Given the description of an element on the screen output the (x, y) to click on. 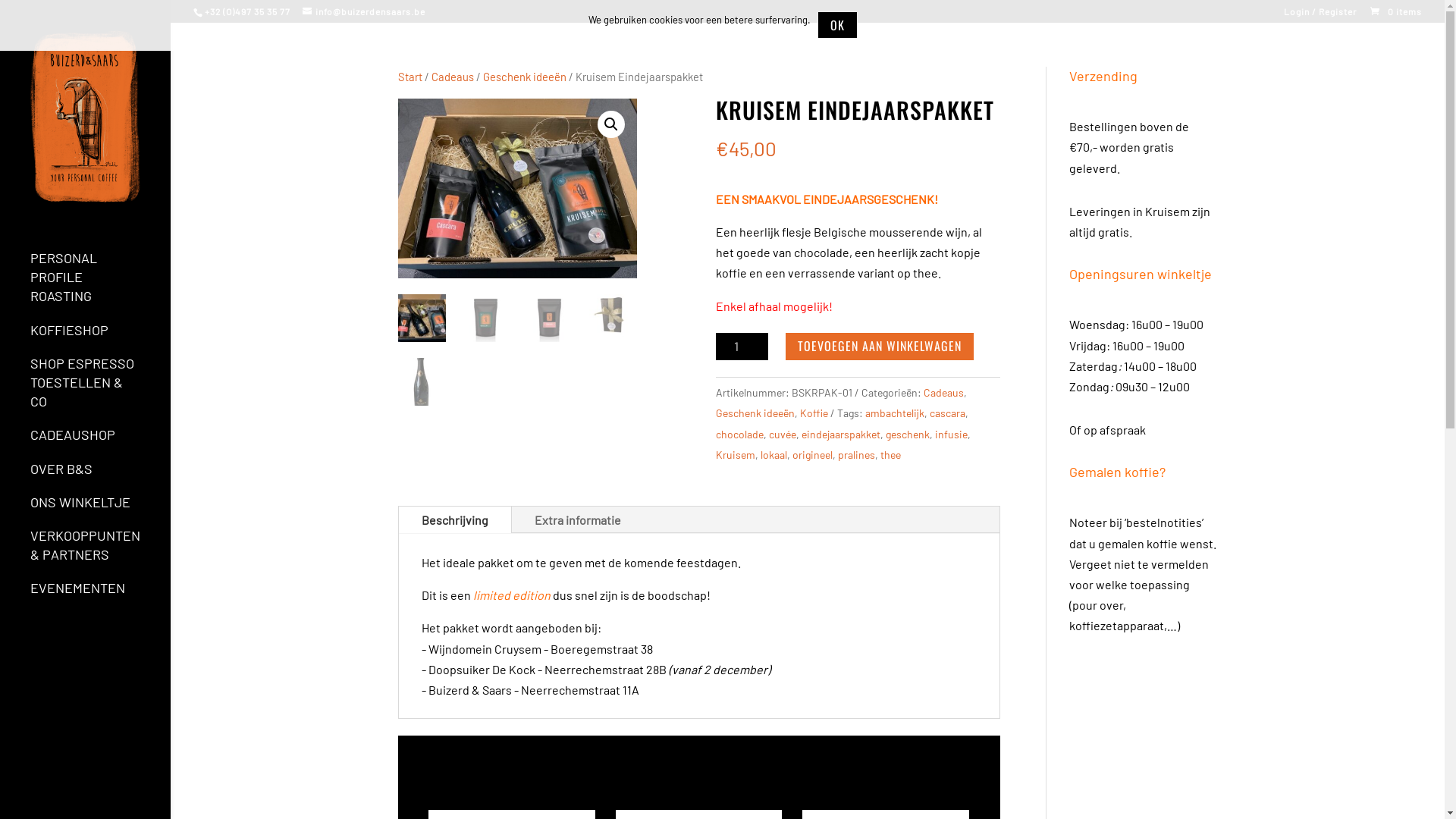
EVENEMENTEN Element type: text (100, 594)
OK Element type: text (836, 24)
Login / Register Element type: text (1319, 11)
pralines Element type: text (856, 454)
Cadeaus Element type: text (943, 391)
OVER B&S Element type: text (100, 475)
Beschrijving Element type: text (454, 519)
Start Element type: text (410, 76)
Koffie Element type: text (814, 412)
lokaal Element type: text (773, 454)
chocolade Element type: text (739, 433)
VERKOOPPUNTEN & PARTNERS Element type: text (100, 552)
thee Element type: text (890, 454)
cascara Element type: text (947, 412)
CADEAUSHOP Element type: text (100, 441)
origineel Element type: text (812, 454)
info@buizerdensaars.be Element type: text (363, 11)
Cadeaus Element type: text (452, 76)
ONS WINKELTJE Element type: text (100, 509)
infusie Element type: text (951, 433)
geschenk Element type: text (907, 433)
Eindejaarspakket Element type: hover (517, 188)
Kruisem Element type: text (735, 454)
eindejaarspakket Element type: text (840, 433)
TOEVOEGEN AAN WINKELWAGEN Element type: text (879, 346)
PERSONAL PROFILE ROASTING Element type: text (100, 284)
Extra informatie Element type: text (577, 519)
ambachtelijk Element type: text (894, 412)
SHOP ESPRESSO TOESTELLEN & CO Element type: text (100, 390)
KOFFIESHOP Element type: text (100, 337)
0 items Element type: text (1394, 11)
